Given the description of an element on the screen output the (x, y) to click on. 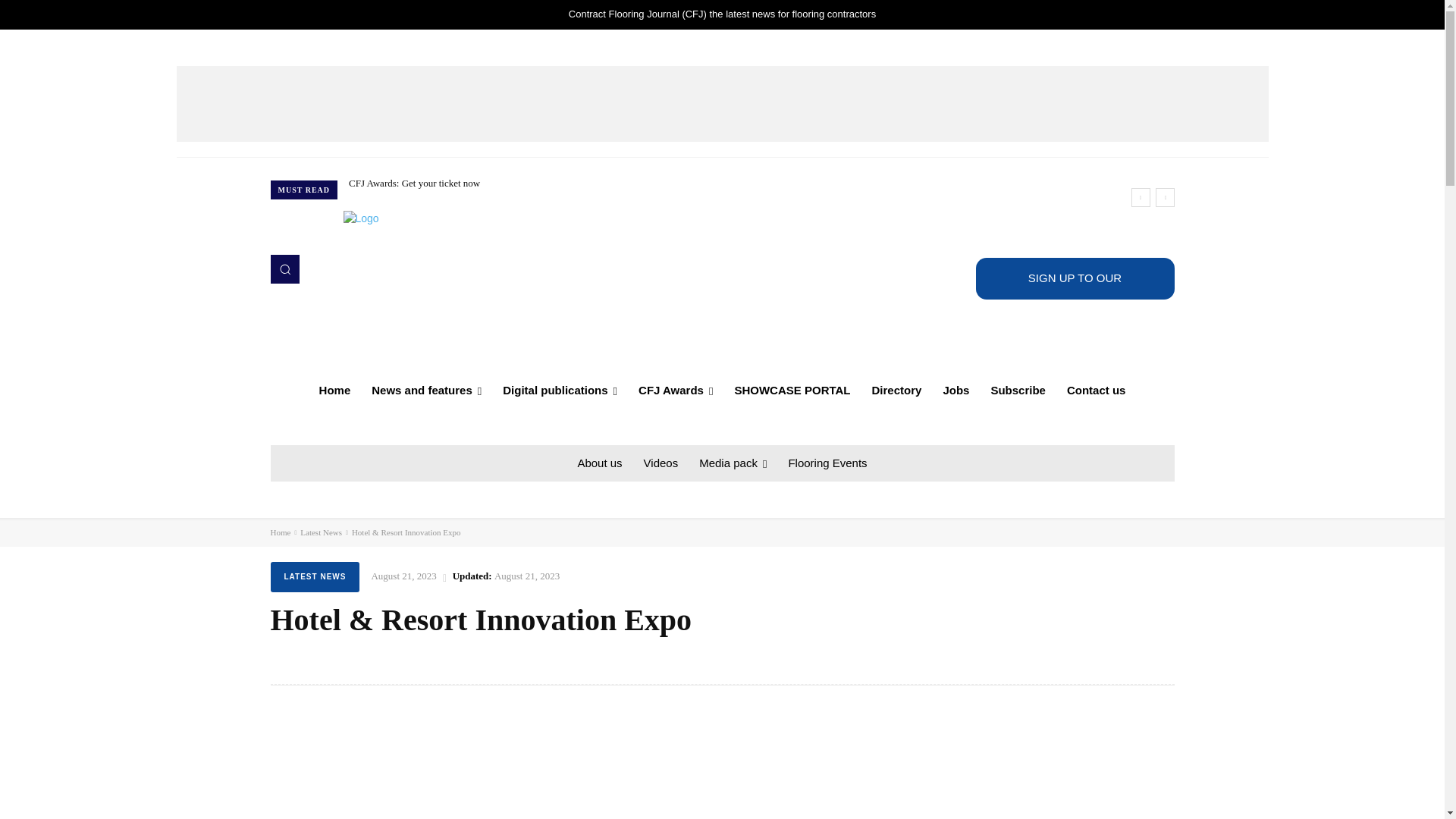
SIGN UP TO OUR NEWSLETTER (1074, 278)
CFJ Awards: Get your ticket now (414, 183)
